Given the description of an element on the screen output the (x, y) to click on. 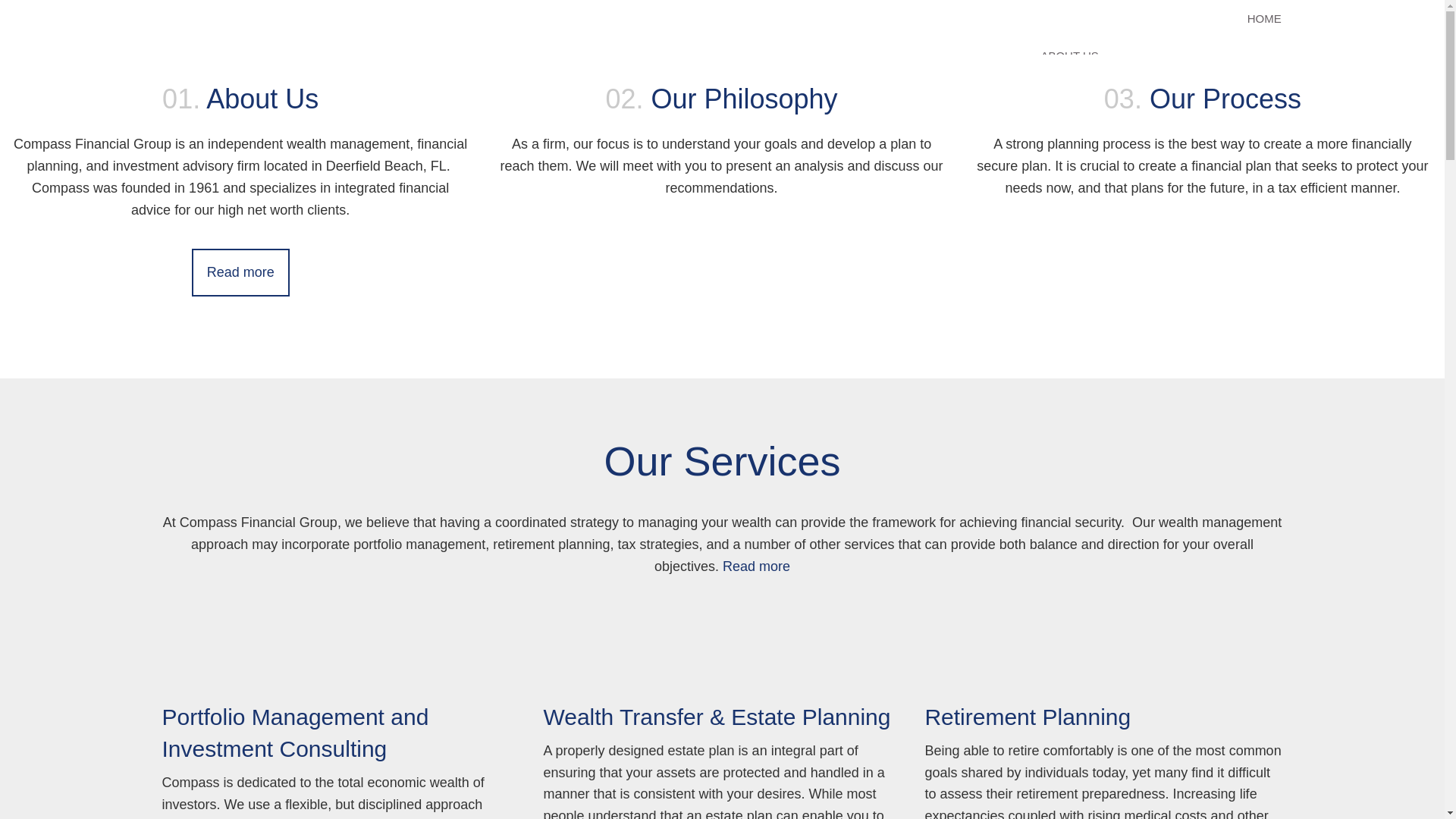
OUR PHILOSOPHY (1203, 92)
Read more (756, 566)
FORM CRS (1251, 242)
OUR PRINCIPALS (1088, 130)
ABOUT US (1160, 55)
About Us (240, 272)
CONTACT (1253, 204)
ARTICLES (1253, 167)
